Given the description of an element on the screen output the (x, y) to click on. 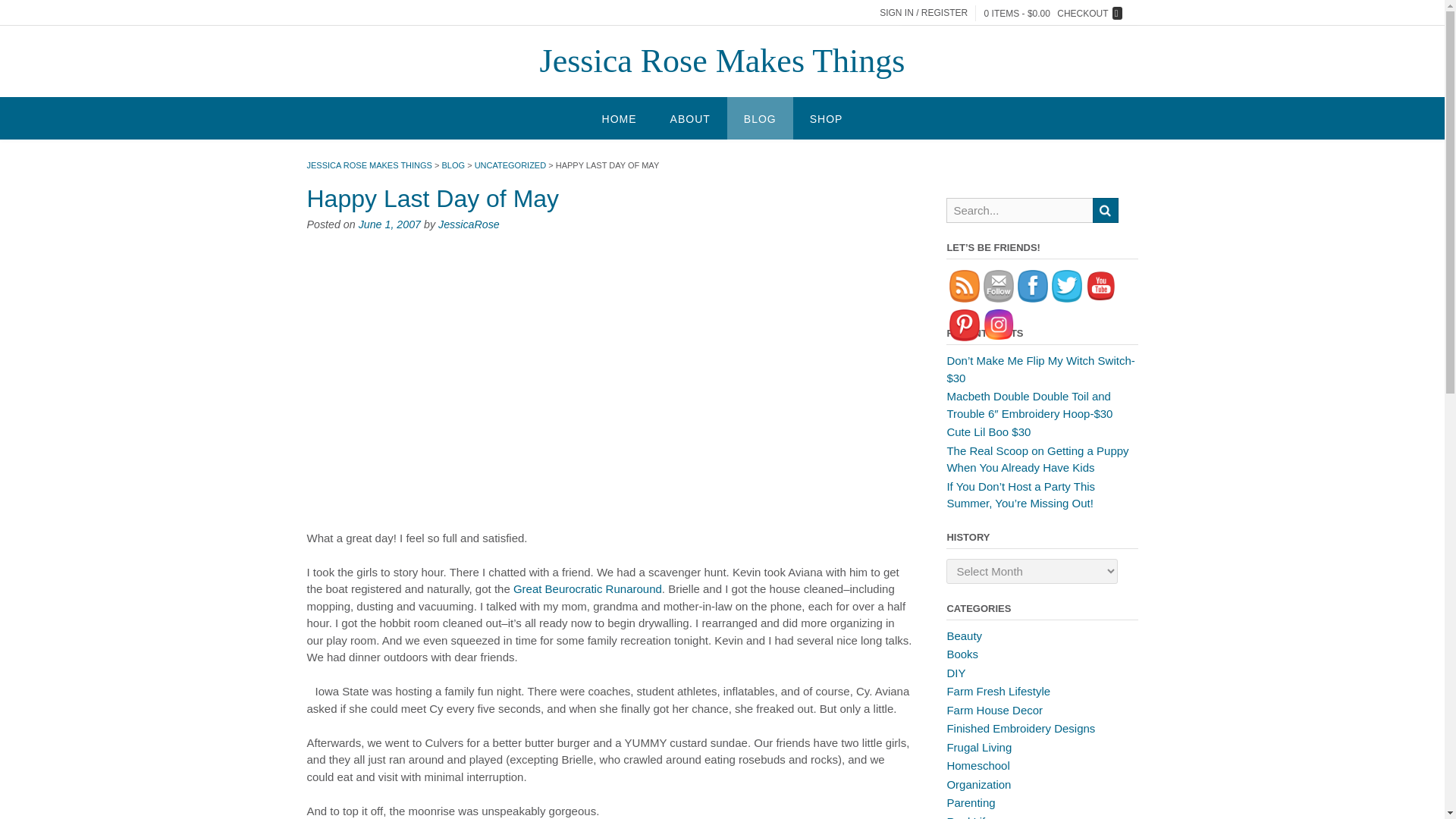
ABOUT (689, 118)
Jessica Rose Makes Things (722, 60)
RSS (964, 286)
UNCATEGORIZED (510, 164)
JessicaRose (468, 224)
Go to BLOG. (452, 164)
BLOG (452, 164)
Search for: (1006, 9)
View your shopping cart (1053, 12)
JESSICA ROSE MAKES THINGS (367, 164)
